Given the description of an element on the screen output the (x, y) to click on. 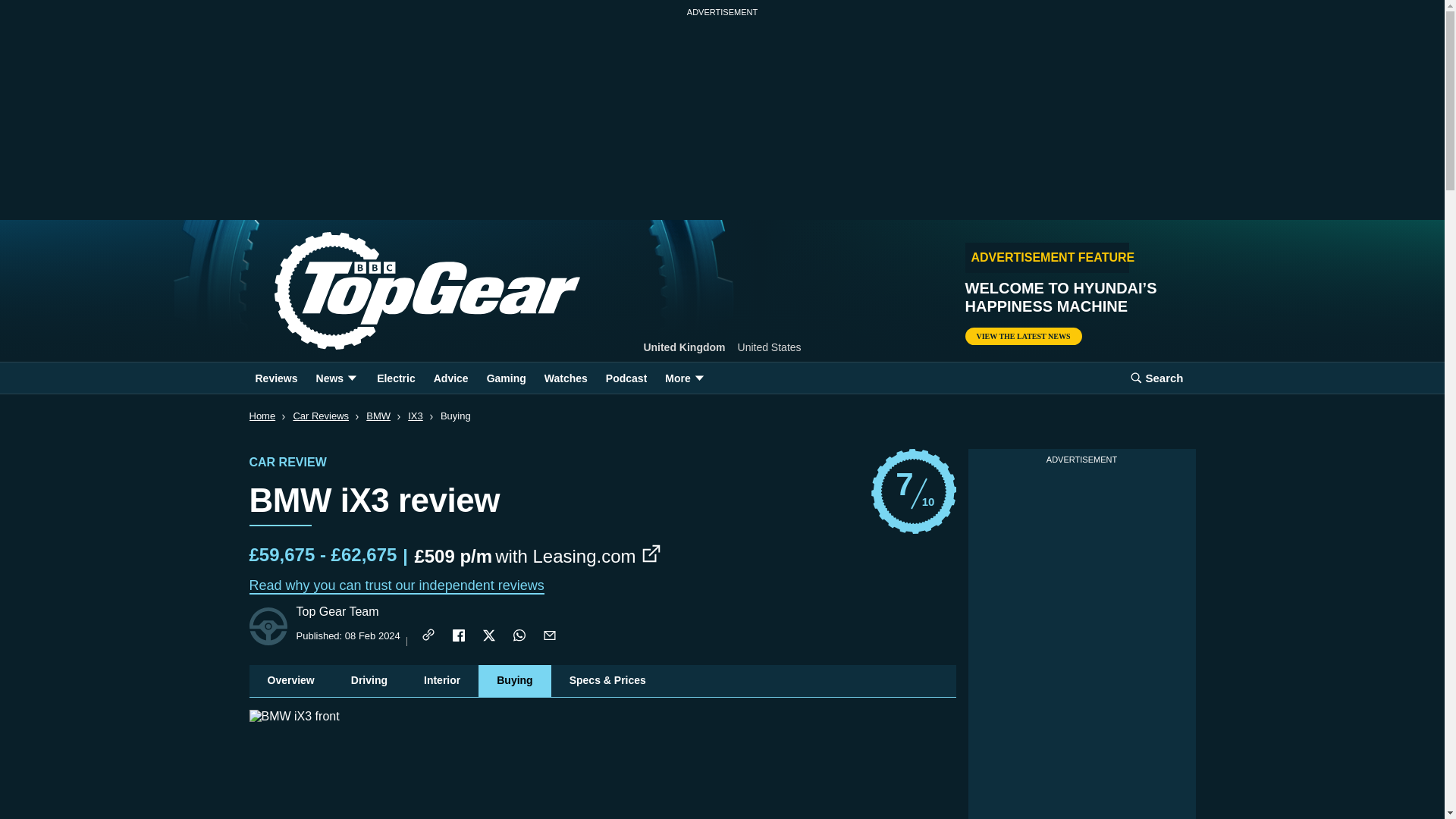
Advice (451, 377)
VIEW THE LATEST NEWS (1022, 335)
Search (1156, 377)
Search (1156, 377)
United States (770, 347)
Home (401, 290)
More (685, 377)
Home (261, 415)
News (337, 377)
BMW (378, 415)
